Given the description of an element on the screen output the (x, y) to click on. 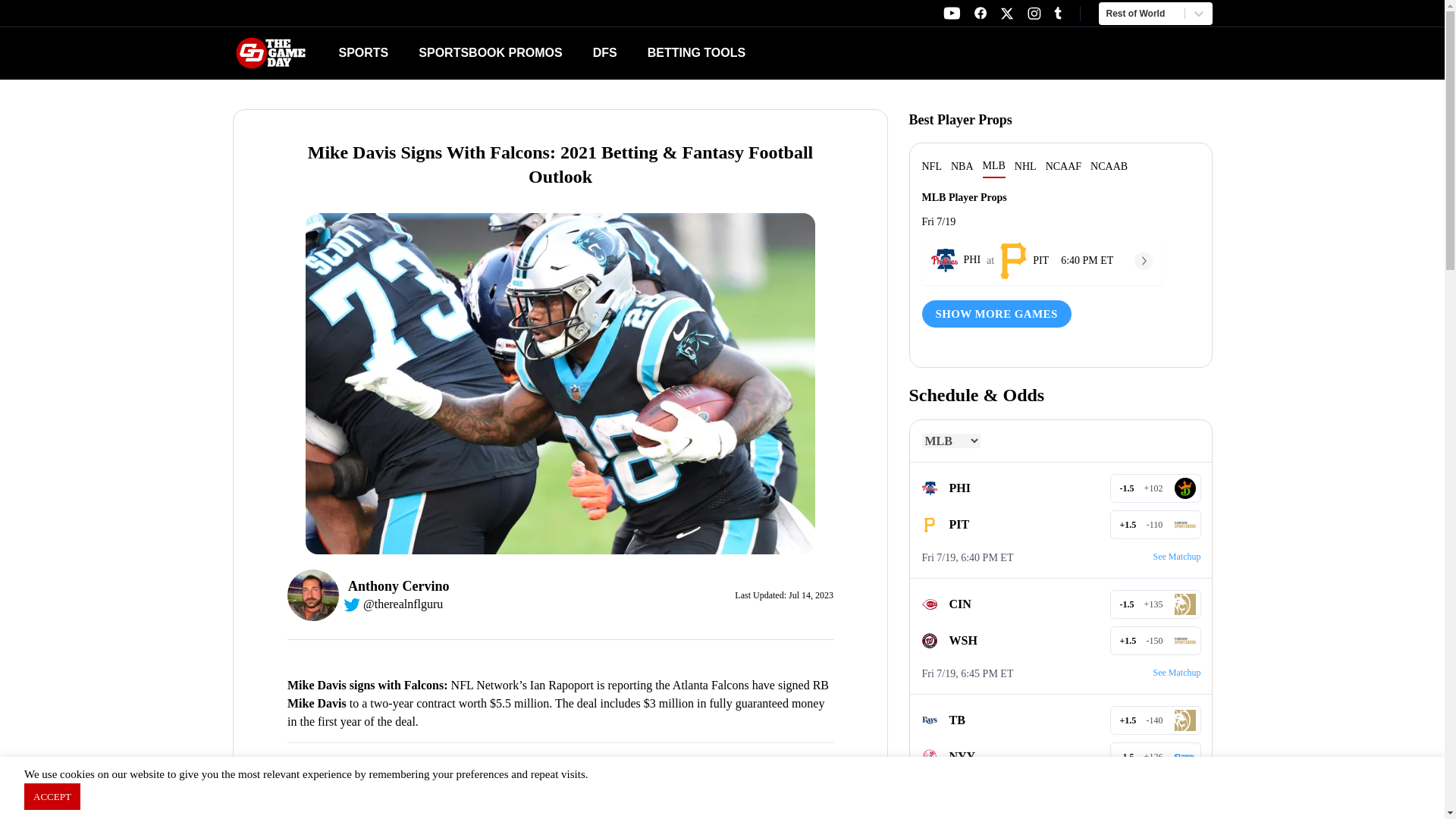
SPORTS (362, 51)
TGD Youtube Channel (758, 53)
TGD Facebook Page (951, 12)
TGD X Profile (980, 12)
TGD Instagram Profile (1006, 13)
